Given the description of an element on the screen output the (x, y) to click on. 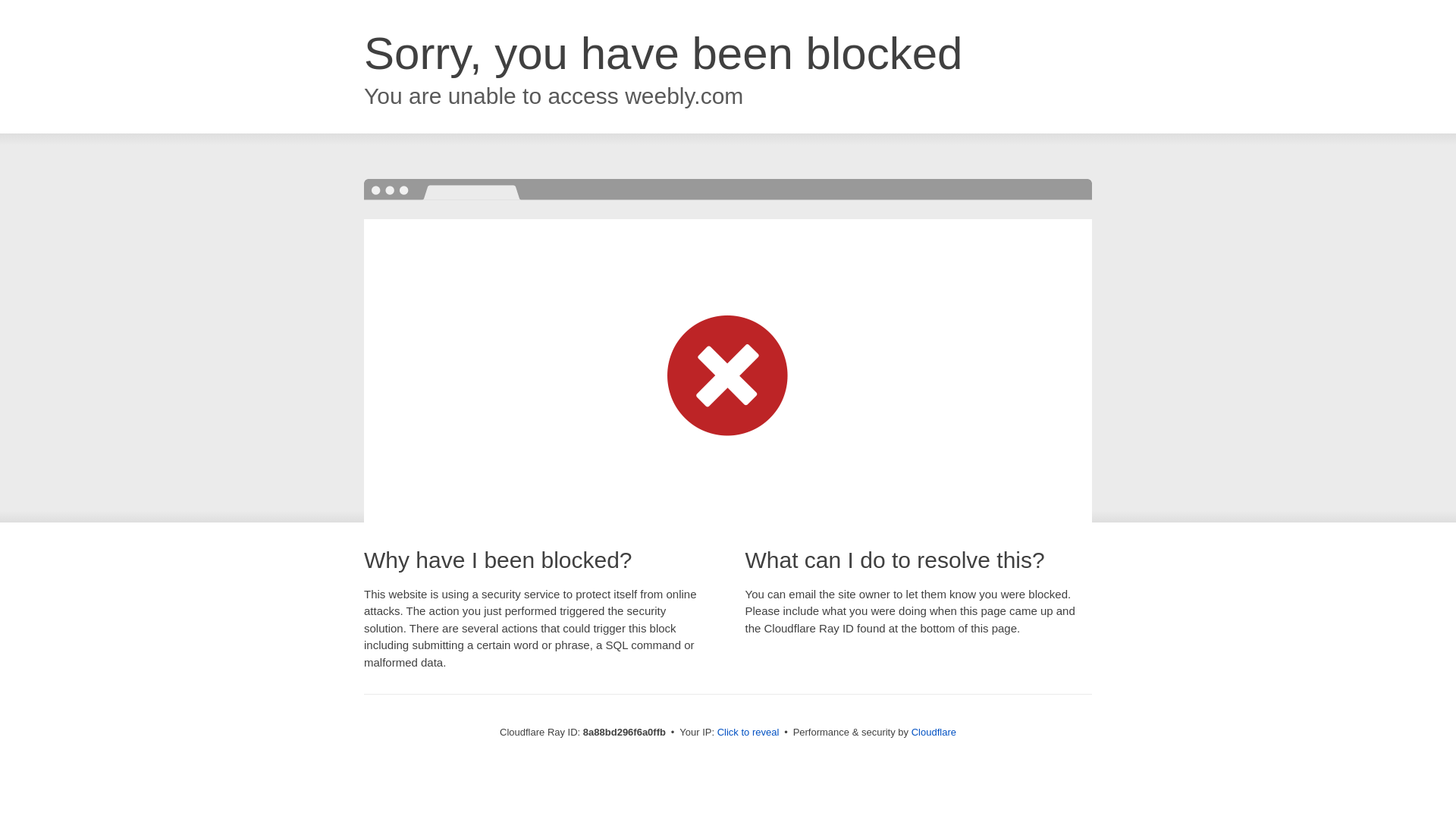
Click to reveal (747, 732)
Cloudflare (933, 731)
